Given the description of an element on the screen output the (x, y) to click on. 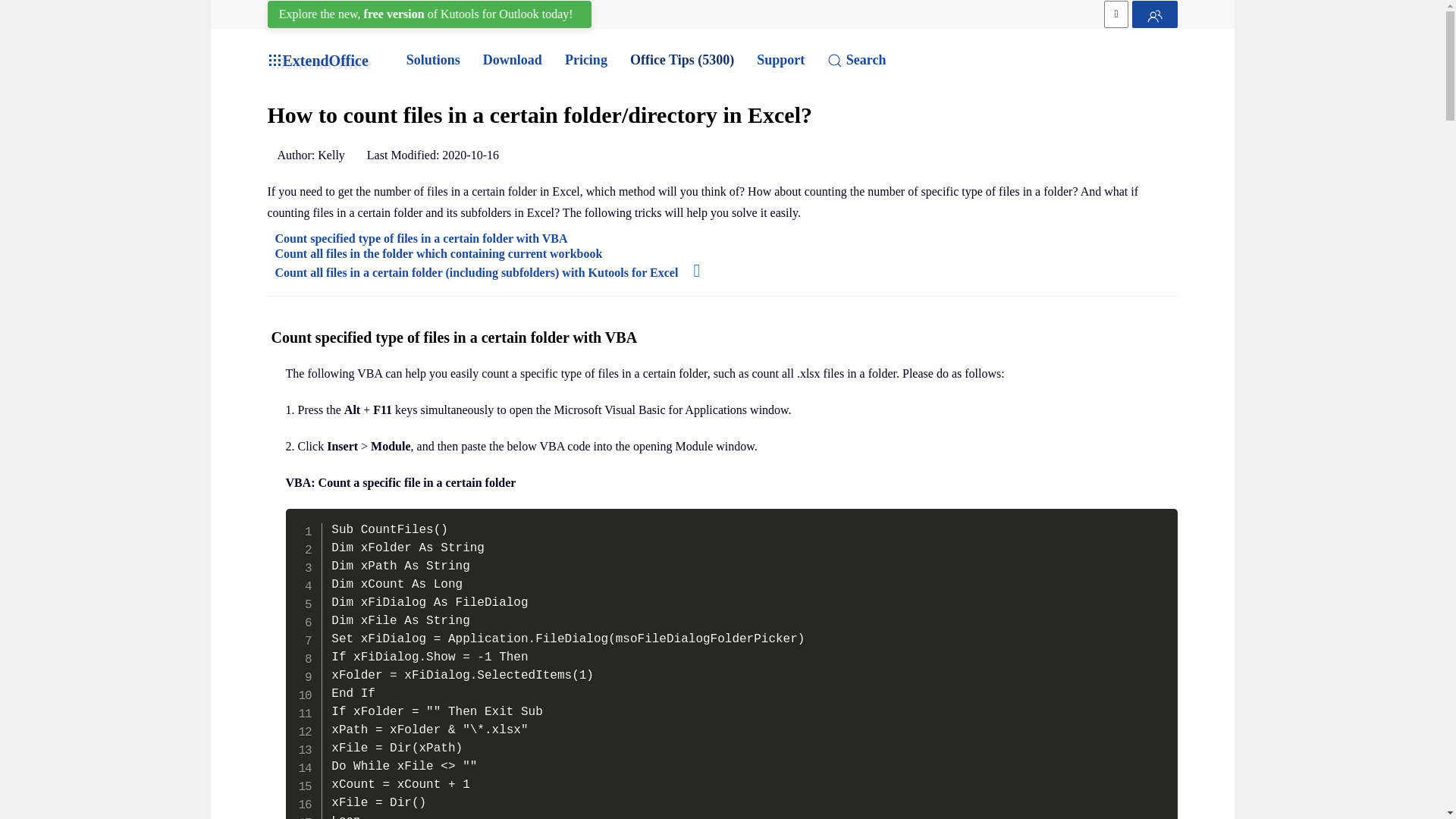
Kutools for Outlook Free Version (435, 13)
Click to view the demo about this method (689, 272)
